Given the description of an element on the screen output the (x, y) to click on. 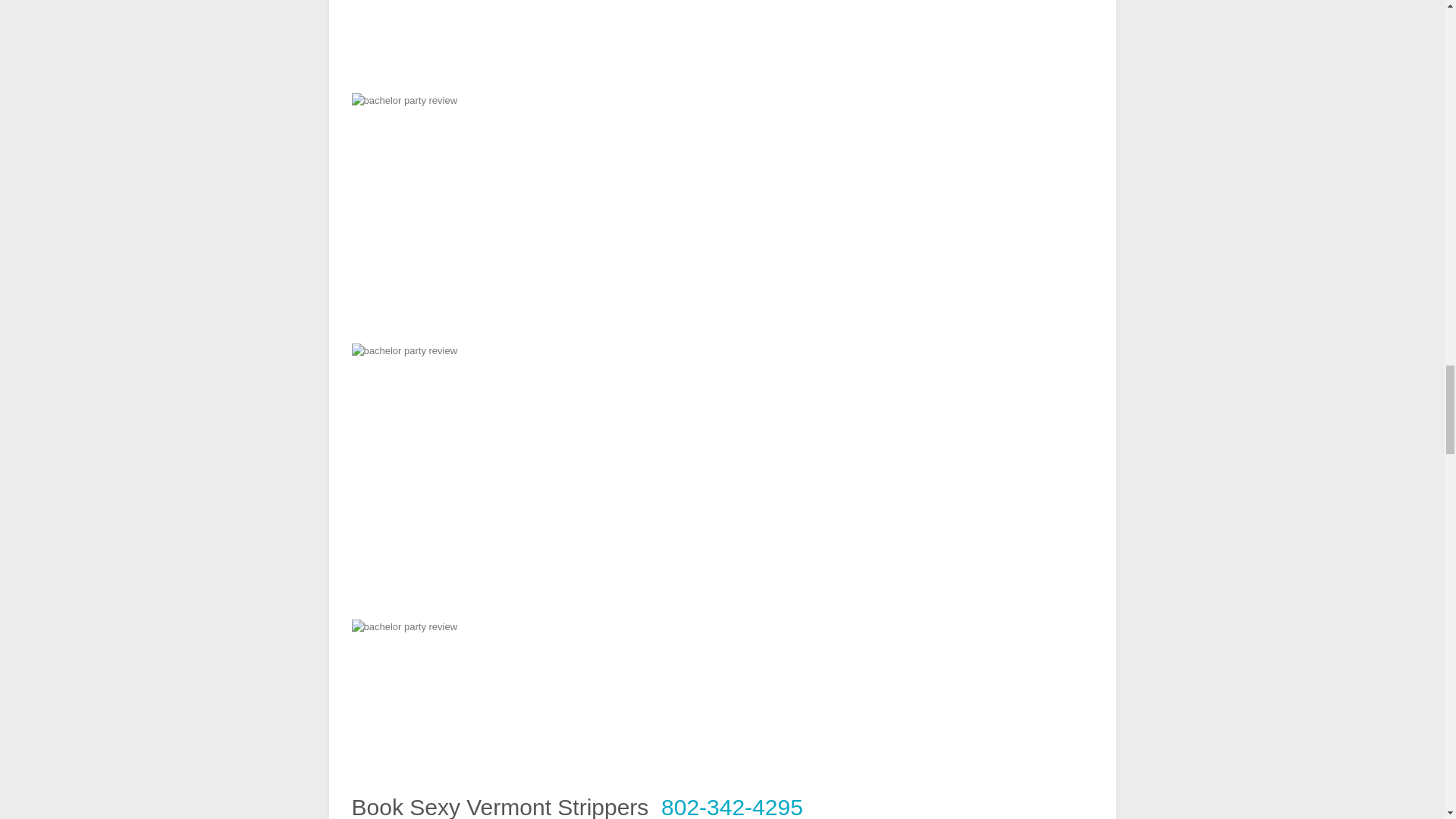
802-342-4295 (732, 806)
